Given the description of an element on the screen output the (x, y) to click on. 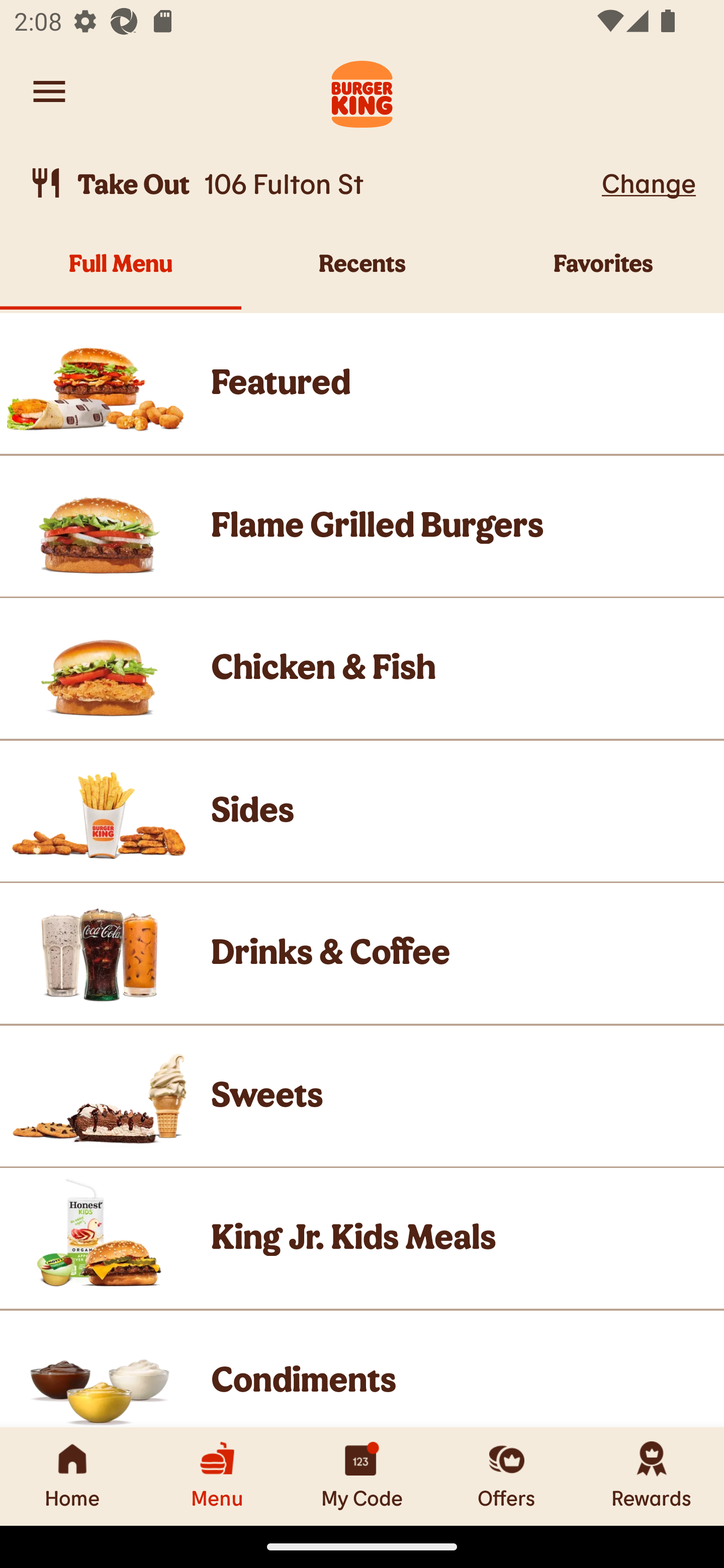
Burger King Logo. Navigate to Home (362, 91)
Navigate to account menu  (49, 91)
Take Out, 106 Fulton St  Take Out 106 Fulton St (311, 183)
Change (648, 182)
Full Menu (120, 273)
Recents (361, 273)
Favorites (603, 273)
Product Image, Featured Product Image Featured (362, 383)
Product Image, Sides Product Image Sides (362, 810)
Product Image, Sweets Product Image Sweets (362, 1095)
Product Image, Condiments Product Image Condiments (362, 1368)
Home (72, 1475)
Menu (216, 1475)
My Code (361, 1475)
Offers (506, 1475)
Rewards (651, 1475)
